Given the description of an element on the screen output the (x, y) to click on. 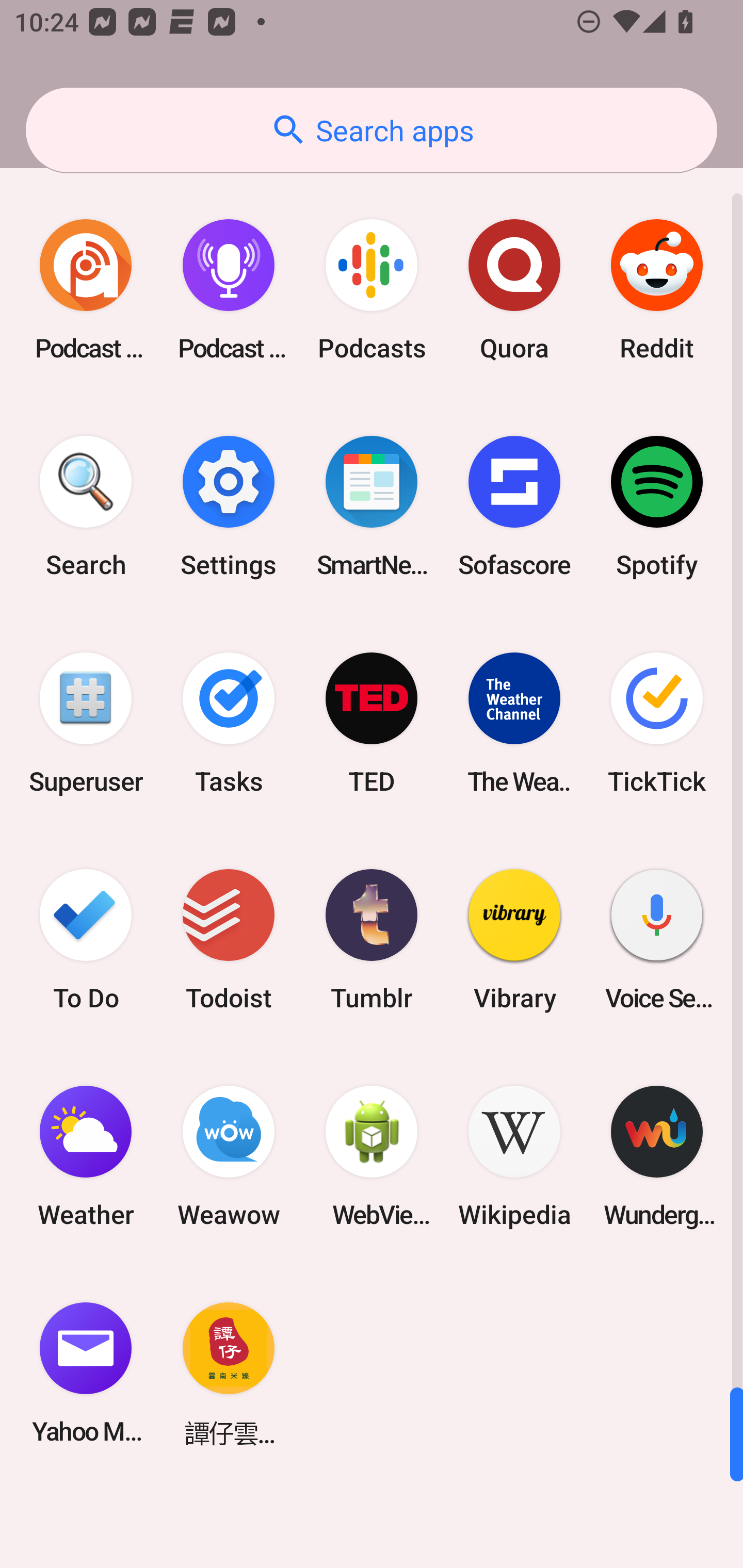
  Search apps (371, 130)
pixiv (85, 142)
Podcast Addict (85, 289)
Podcast Player (228, 289)
Podcasts (371, 289)
Quora (514, 289)
Reddit (656, 289)
Search (85, 506)
Settings (228, 506)
SmartNews (371, 506)
Sofascore (514, 506)
Spotify (656, 506)
Superuser (85, 722)
Tasks (228, 722)
TED (371, 722)
The Weather Channel (514, 722)
TickTick (656, 722)
To Do (85, 939)
Todoist (228, 939)
Tumblr (371, 939)
Vibrary (514, 939)
Voice Search (656, 939)
Weather (85, 1156)
Weawow (228, 1156)
WebView Browser Tester (371, 1156)
Wikipedia (514, 1156)
Wunderground (656, 1156)
Yahoo Mail (85, 1373)
譚仔雲南米線 (228, 1373)
